Given the description of an element on the screen output the (x, y) to click on. 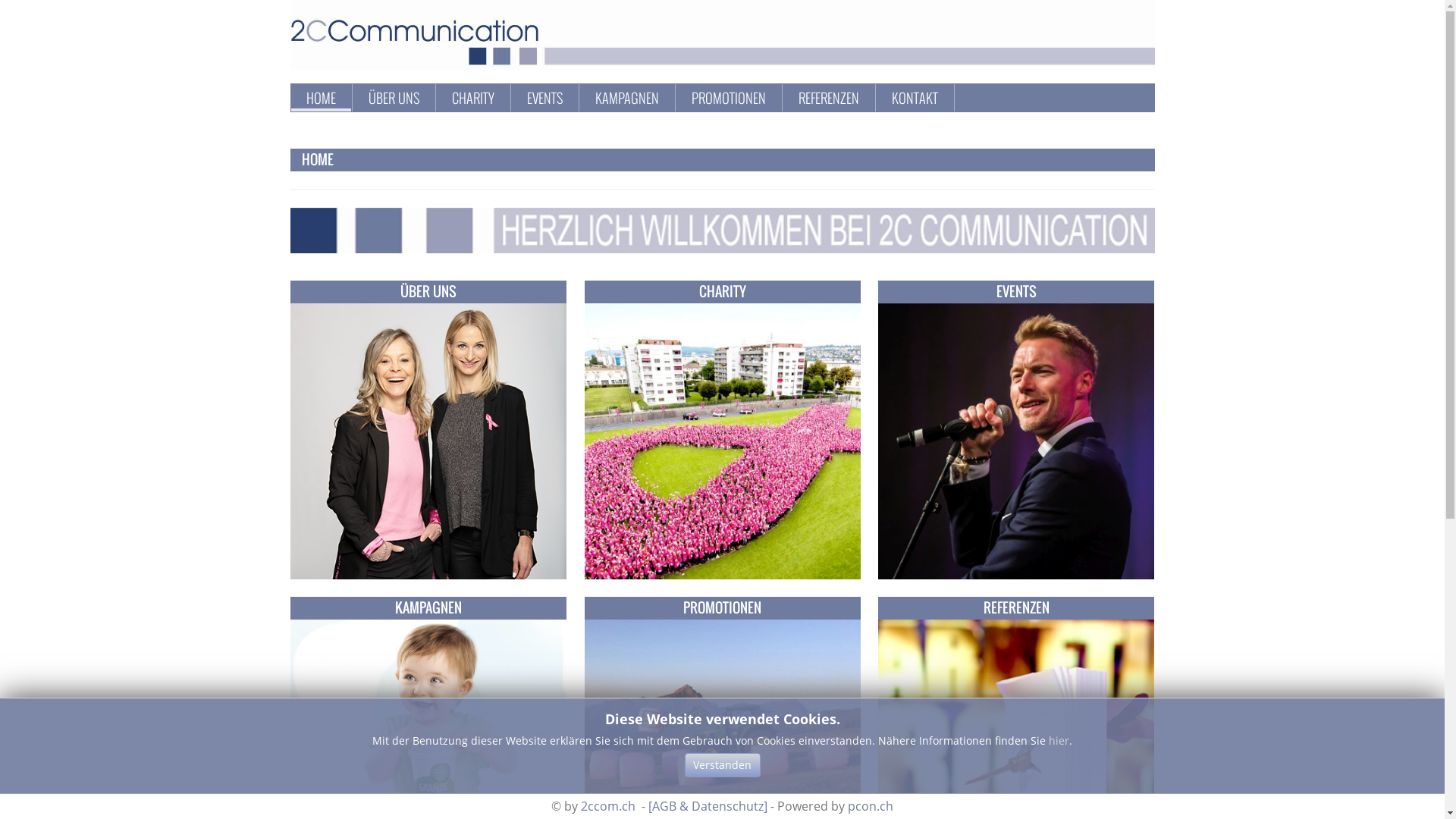
Charity Element type: hover (722, 439)
KONTAKT Element type: text (914, 97)
CHARITY Element type: text (472, 97)
Events Element type: hover (1016, 439)
2ccom.ch Element type: text (607, 805)
[AGB & Datenschutz] Element type: text (707, 805)
Kampagnen Element type: hover (428, 755)
hier Element type: text (1058, 740)
pcon.ch Element type: text (870, 805)
HOME Element type: text (321, 97)
KAMPAGNEN Element type: text (626, 97)
REFERENZEN Element type: text (827, 97)
EVENTS Element type: text (544, 97)
Promotionen Element type: hover (722, 755)
Referenzen Element type: hover (1016, 755)
PROMOTIONEN Element type: text (728, 97)
